Given the description of an element on the screen output the (x, y) to click on. 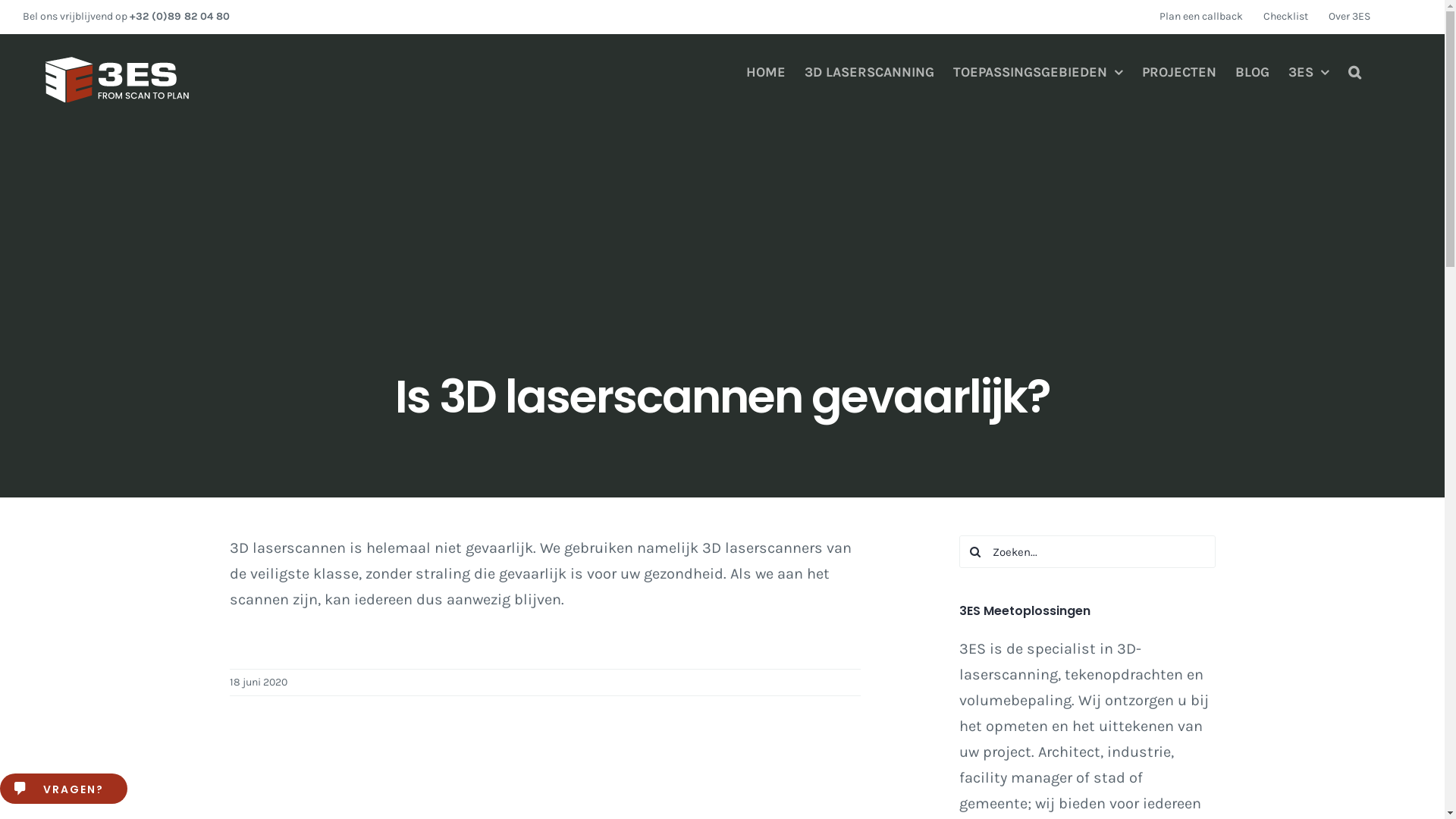
Plan een callback Element type: text (1200, 16)
TOEPASSINGSGEBIEDEN Element type: text (1038, 71)
BLOG Element type: text (1252, 71)
Zoeken Element type: hover (1354, 71)
Checklist Element type: text (1285, 16)
HOME Element type: text (765, 71)
3D LASERSCANNING Element type: text (869, 71)
VRAGEN? Element type: text (63, 788)
+32 (0)89 82 04 80 Element type: text (179, 15)
PROJECTEN Element type: text (1179, 71)
Over 3ES Element type: text (1349, 16)
3ES Element type: text (1308, 71)
